Given the description of an element on the screen output the (x, y) to click on. 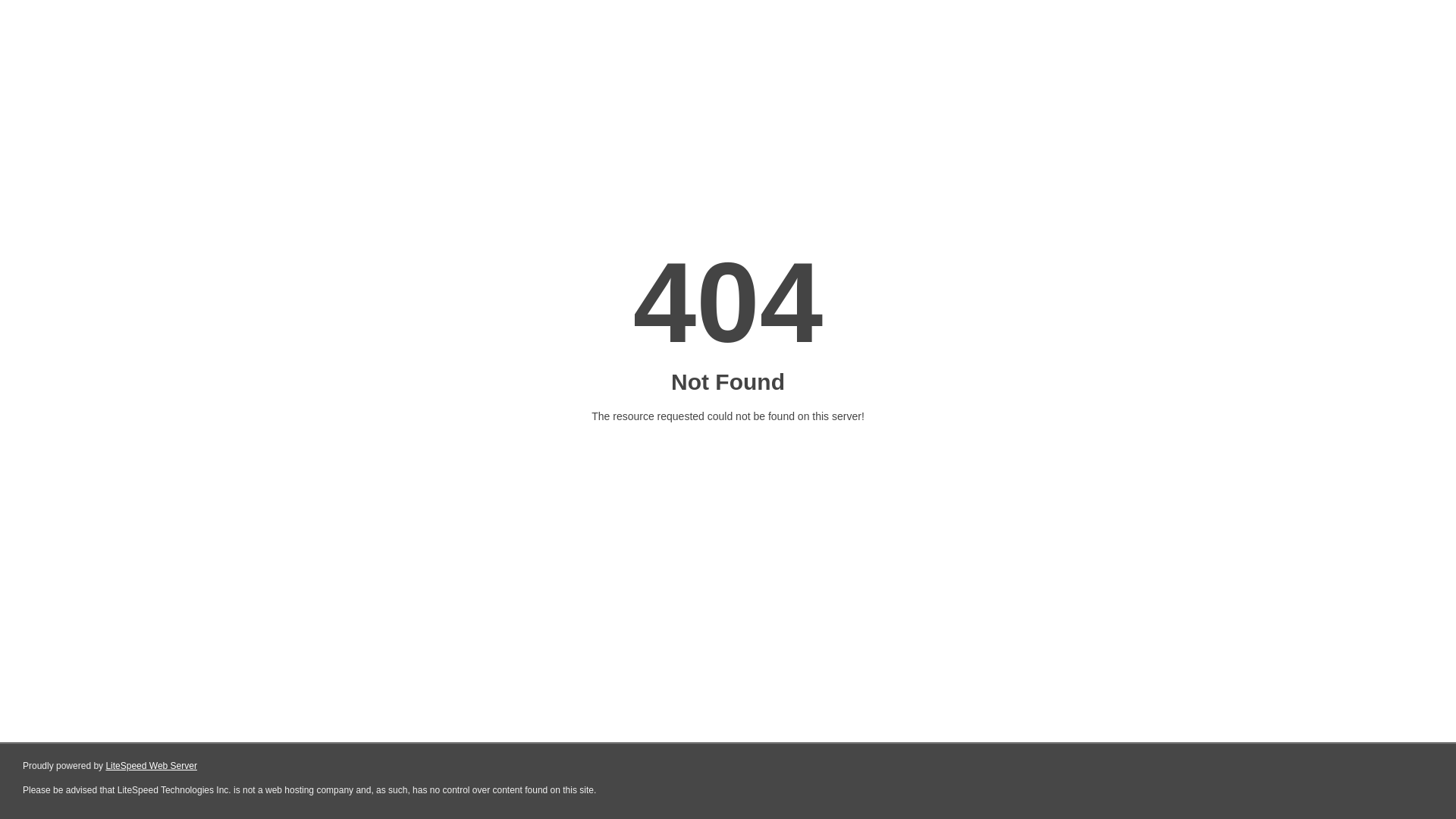
LiteSpeed Web Server Element type: text (151, 765)
